Given the description of an element on the screen output the (x, y) to click on. 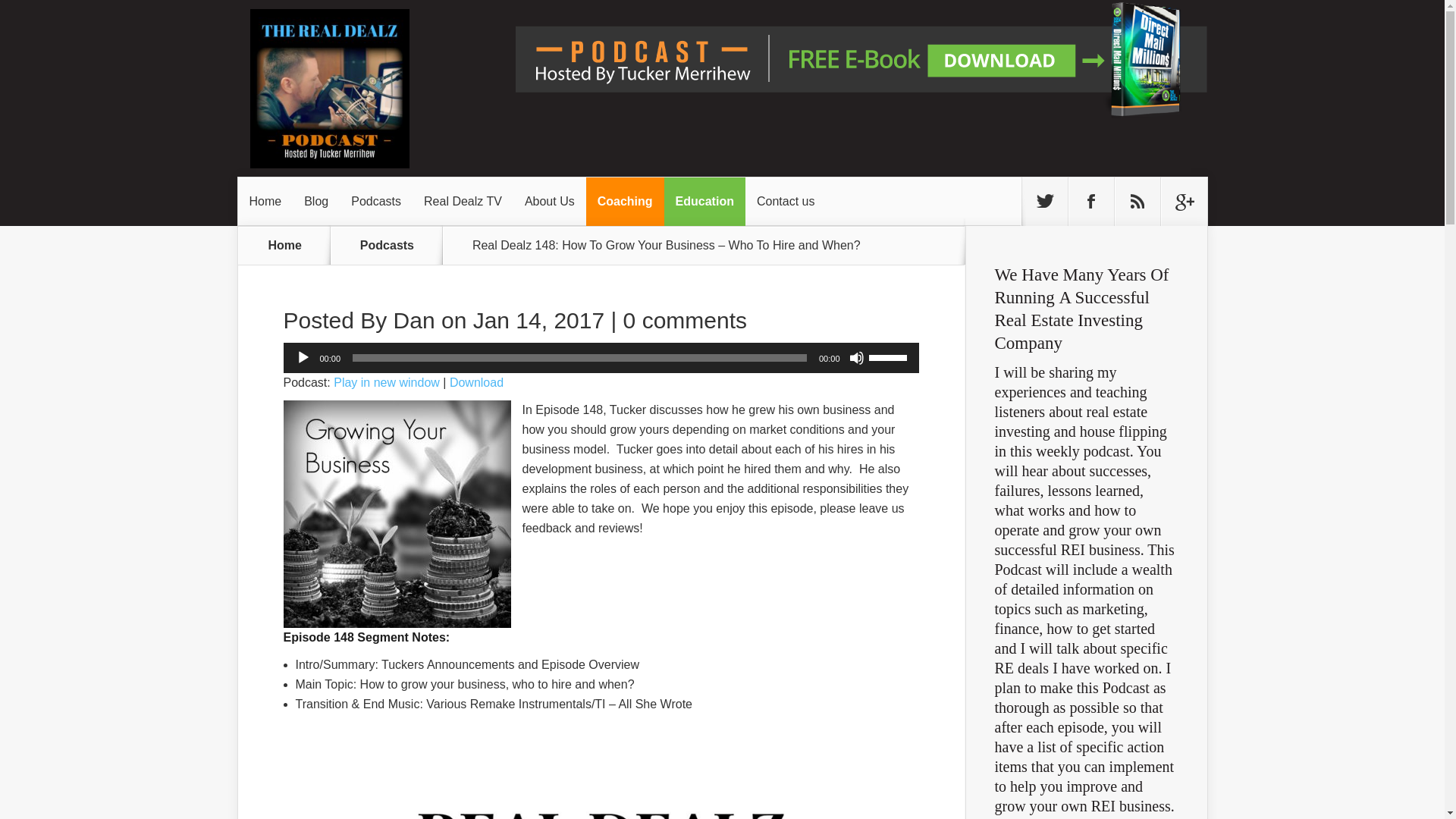
Follow us on Twitter (1044, 201)
Subscribe To Rss Feed (1137, 201)
Real Dealz TV (462, 201)
0 comments (684, 319)
Play in new window (386, 382)
Podcasts (395, 245)
Download (476, 382)
Posts by Dan (414, 319)
Play (303, 357)
Blog (315, 201)
Follow us on Facebook (1090, 201)
Contact us (785, 201)
Mute (856, 357)
Download (476, 382)
Play in new window (386, 382)
